Given the description of an element on the screen output the (x, y) to click on. 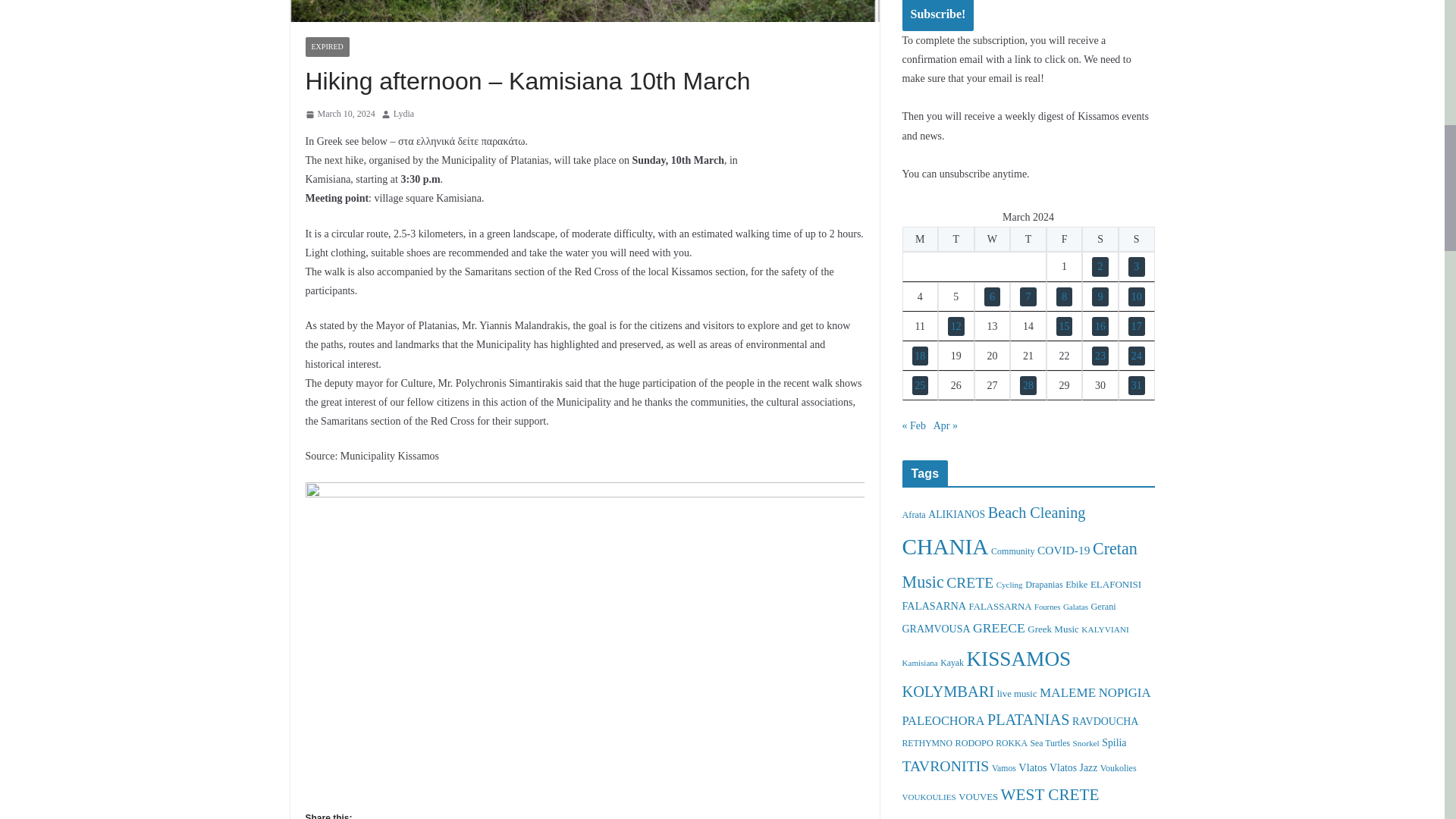
Tuesday (955, 238)
Monday (920, 238)
Lydia (403, 114)
3:30 pm (339, 114)
March 10, 2024 (339, 114)
Subscribe! (938, 15)
Subscribe! (938, 15)
EXPIRED (326, 46)
Lydia (403, 114)
